Given the description of an element on the screen output the (x, y) to click on. 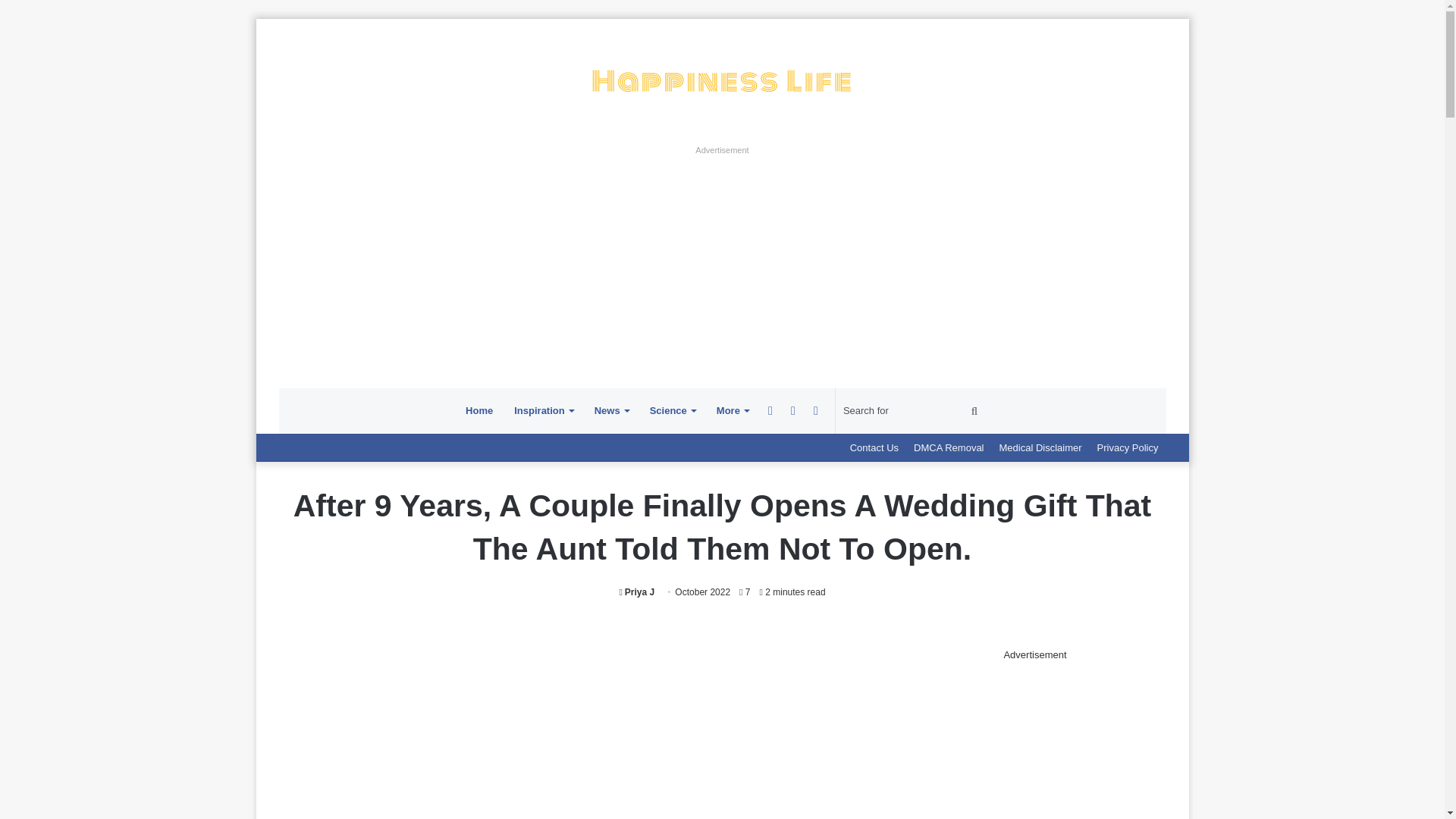
Search for (912, 411)
News (611, 411)
Science (672, 411)
Inspiration (543, 411)
More (732, 411)
Medical Disclaimer (1040, 447)
Home (478, 411)
DMCA Removal (948, 447)
Priya J (635, 592)
Privacy Policy (1127, 447)
